Given the description of an element on the screen output the (x, y) to click on. 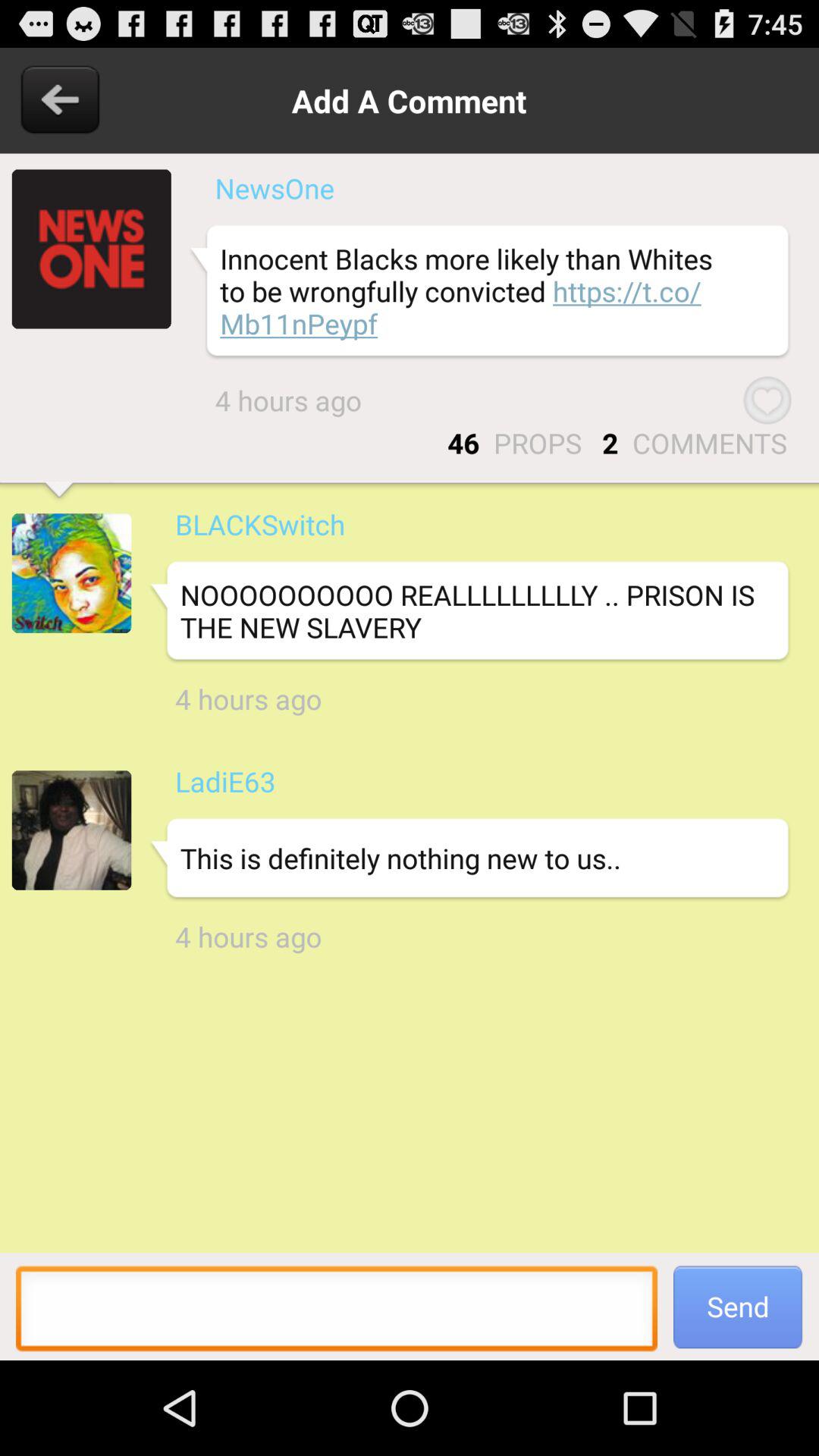
turn off the item next to the 4 hours ago item (767, 400)
